Given the description of an element on the screen output the (x, y) to click on. 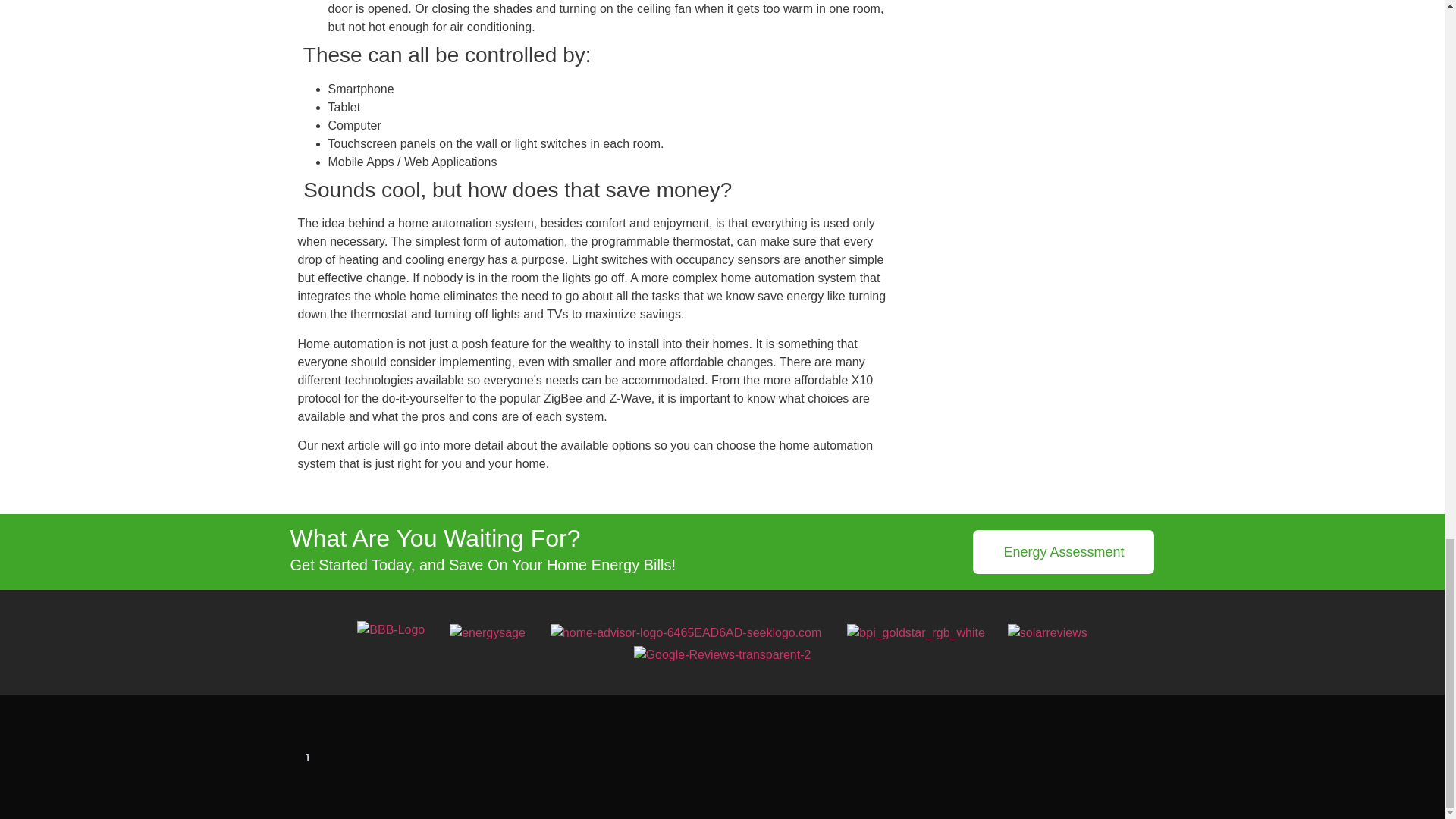
solarreviews (1047, 633)
Google-Reviews-transparent-2 (721, 655)
home-advisor-logo-6465EAD6AD-seeklogo.com (686, 633)
BBB-Logo (390, 629)
energysage (487, 633)
